Given the description of an element on the screen output the (x, y) to click on. 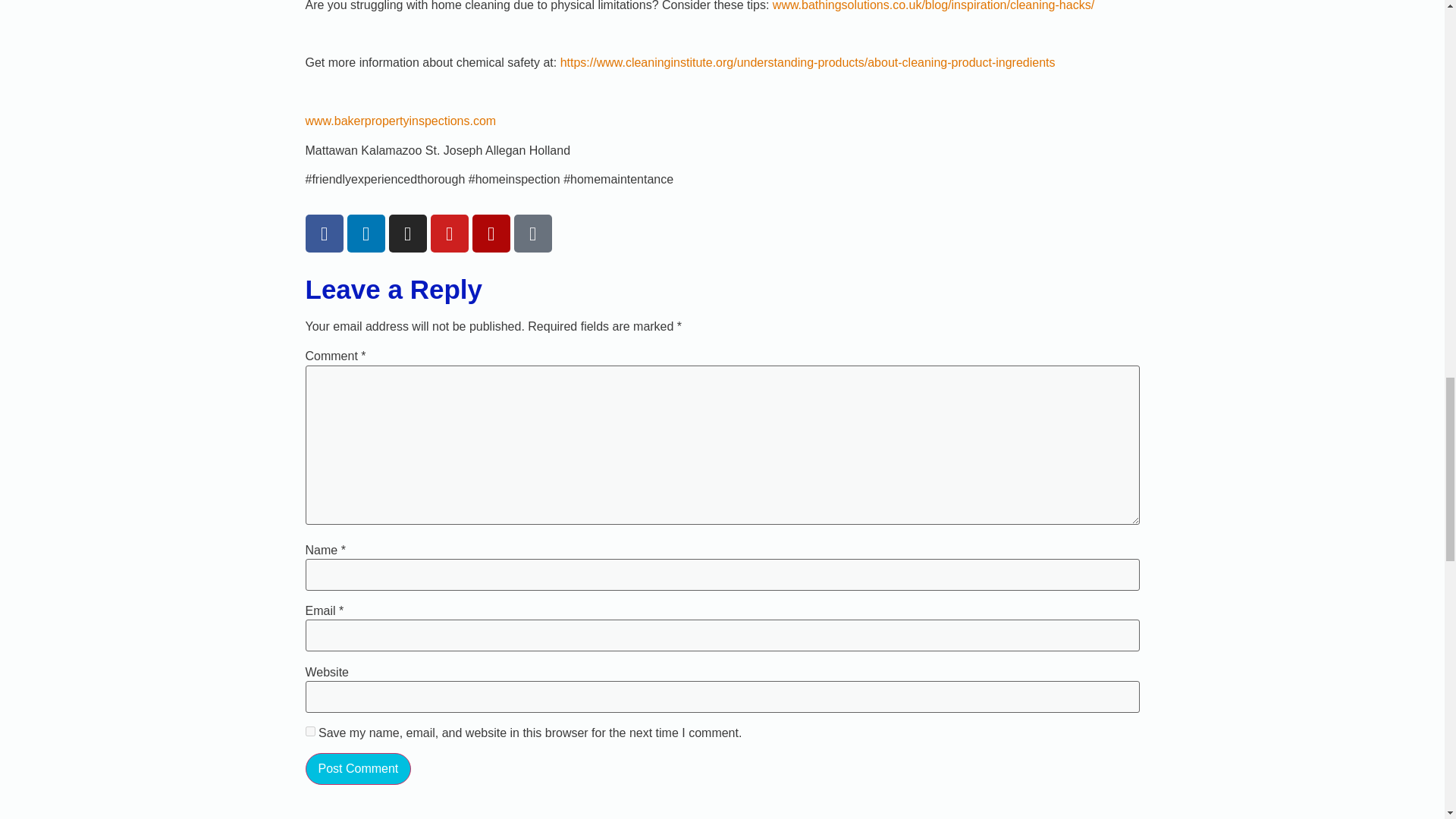
Post Comment (357, 768)
yes (309, 731)
